Given the description of an element on the screen output the (x, y) to click on. 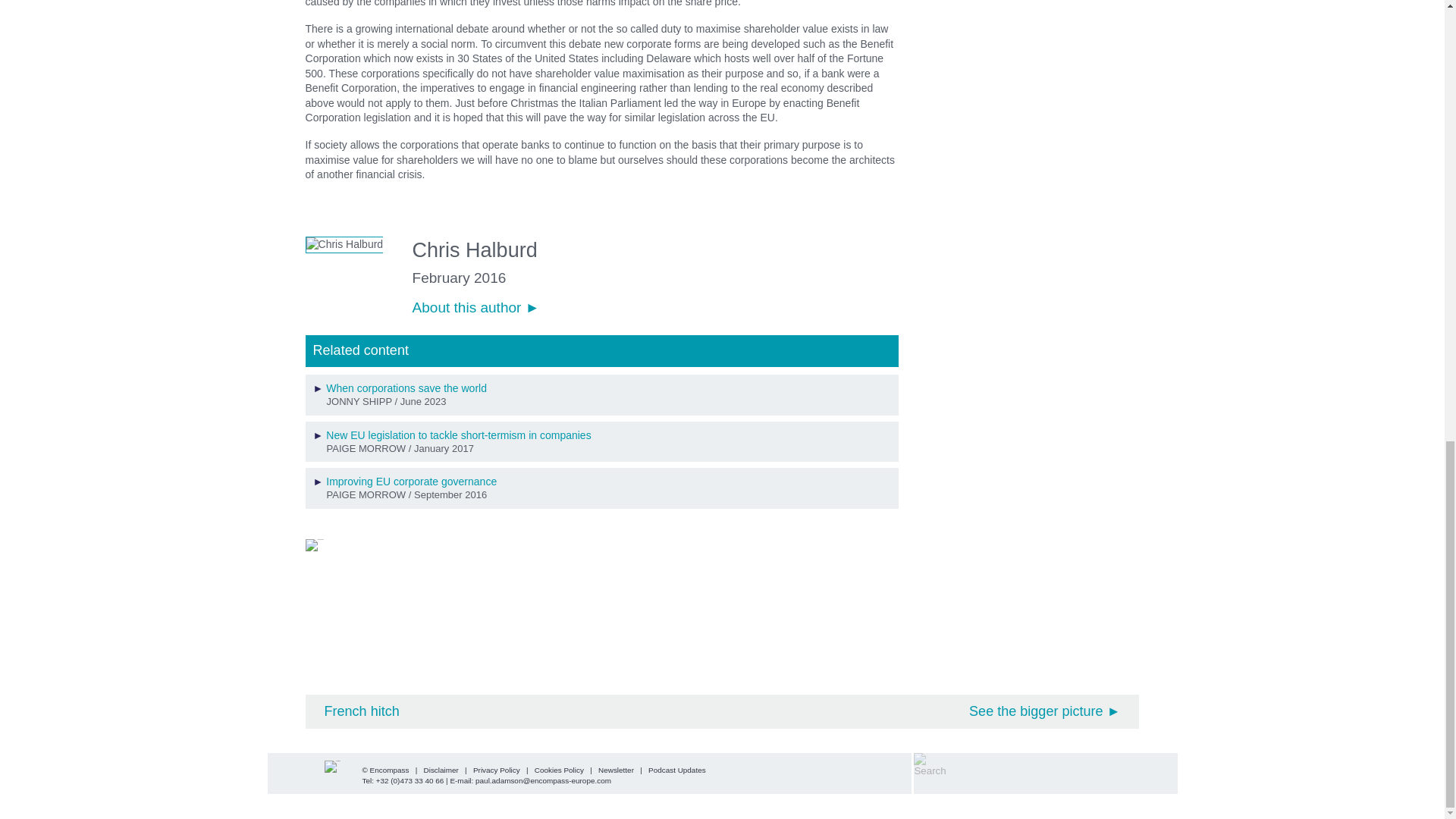
Newsletter (615, 769)
Podcast Updates (676, 769)
Improving EU corporate governance (411, 481)
Cookies Policy (558, 769)
When corporations save the world (406, 387)
Disclaimer (440, 769)
New EU legislation to tackle short-termism in companies (458, 435)
Privacy Policy (496, 769)
